Given the description of an element on the screen output the (x, y) to click on. 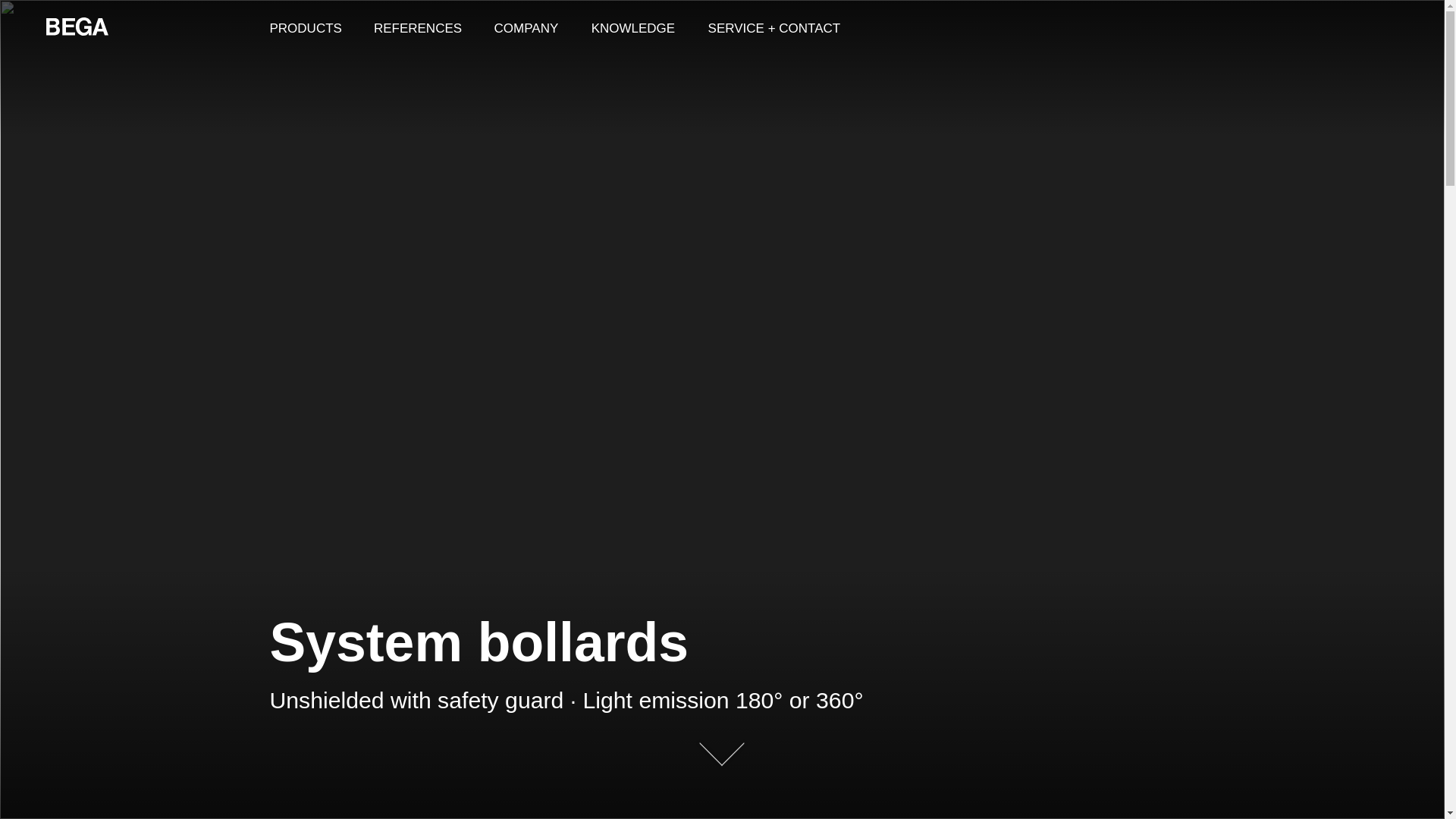
Knowledge (633, 27)
KNOWLEDGE (633, 27)
COMPANY (526, 27)
References (417, 27)
PRODUCTS (304, 27)
Company (526, 27)
REFERENCES (417, 27)
Products (304, 27)
